Given the description of an element on the screen output the (x, y) to click on. 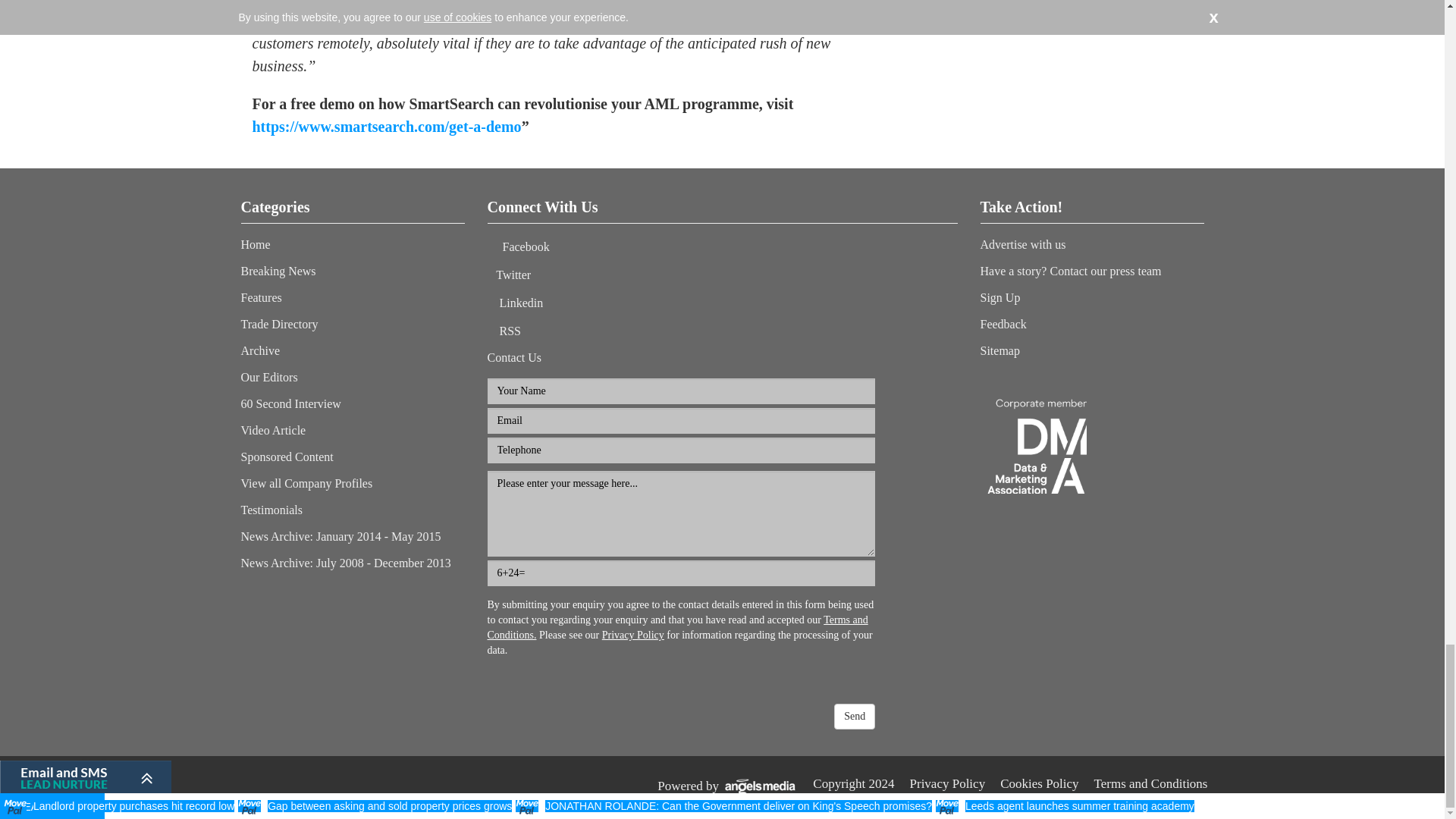
Send (854, 716)
